Given the description of an element on the screen output the (x, y) to click on. 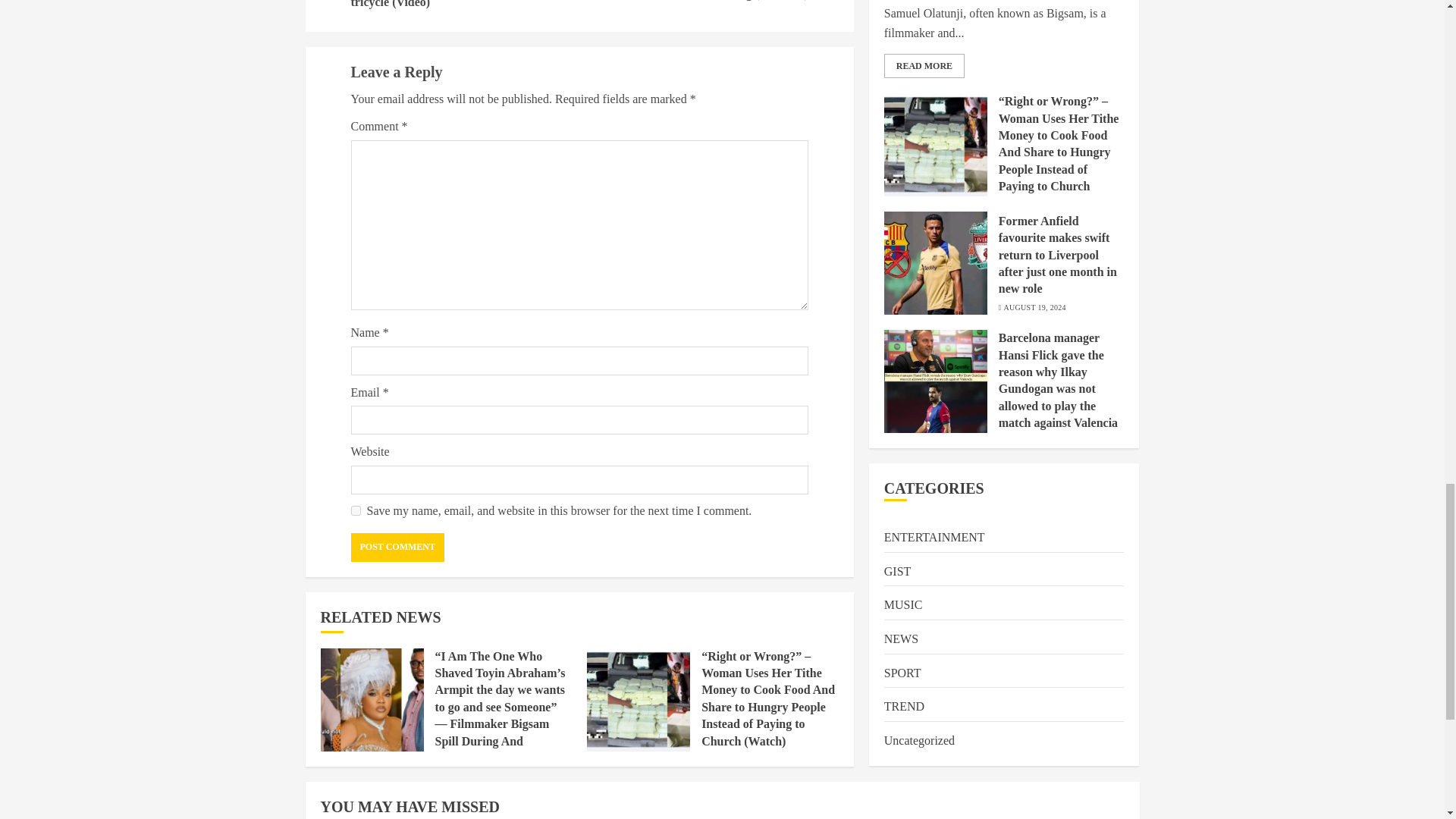
Post Comment (397, 547)
Post Comment (397, 547)
yes (354, 510)
